Given the description of an element on the screen output the (x, y) to click on. 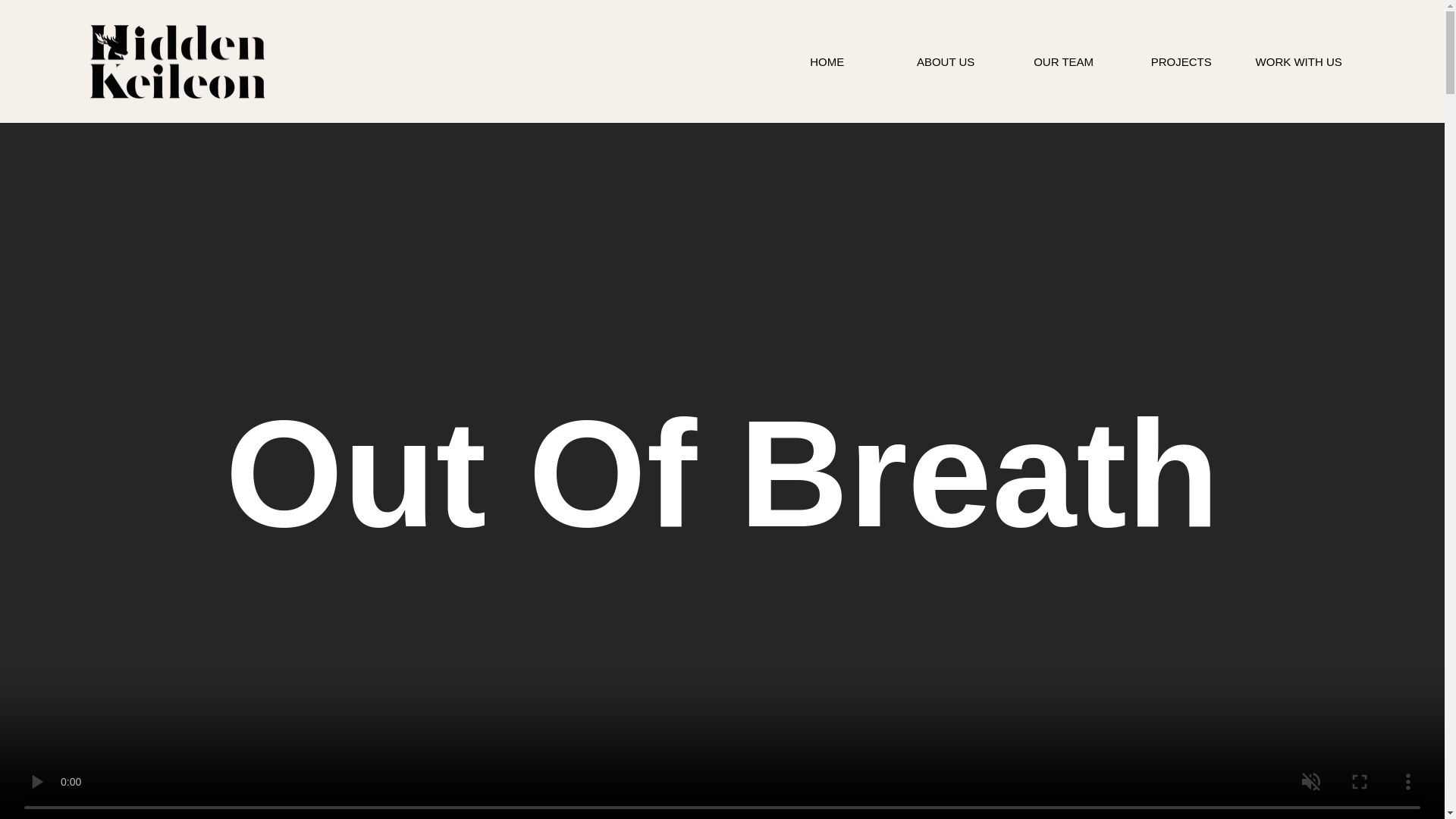
HOME (827, 61)
OUR TEAM (1063, 61)
ABOUT US (945, 61)
WORK WITH US (1298, 61)
PROJECTS (1181, 61)
